Given the description of an element on the screen output the (x, y) to click on. 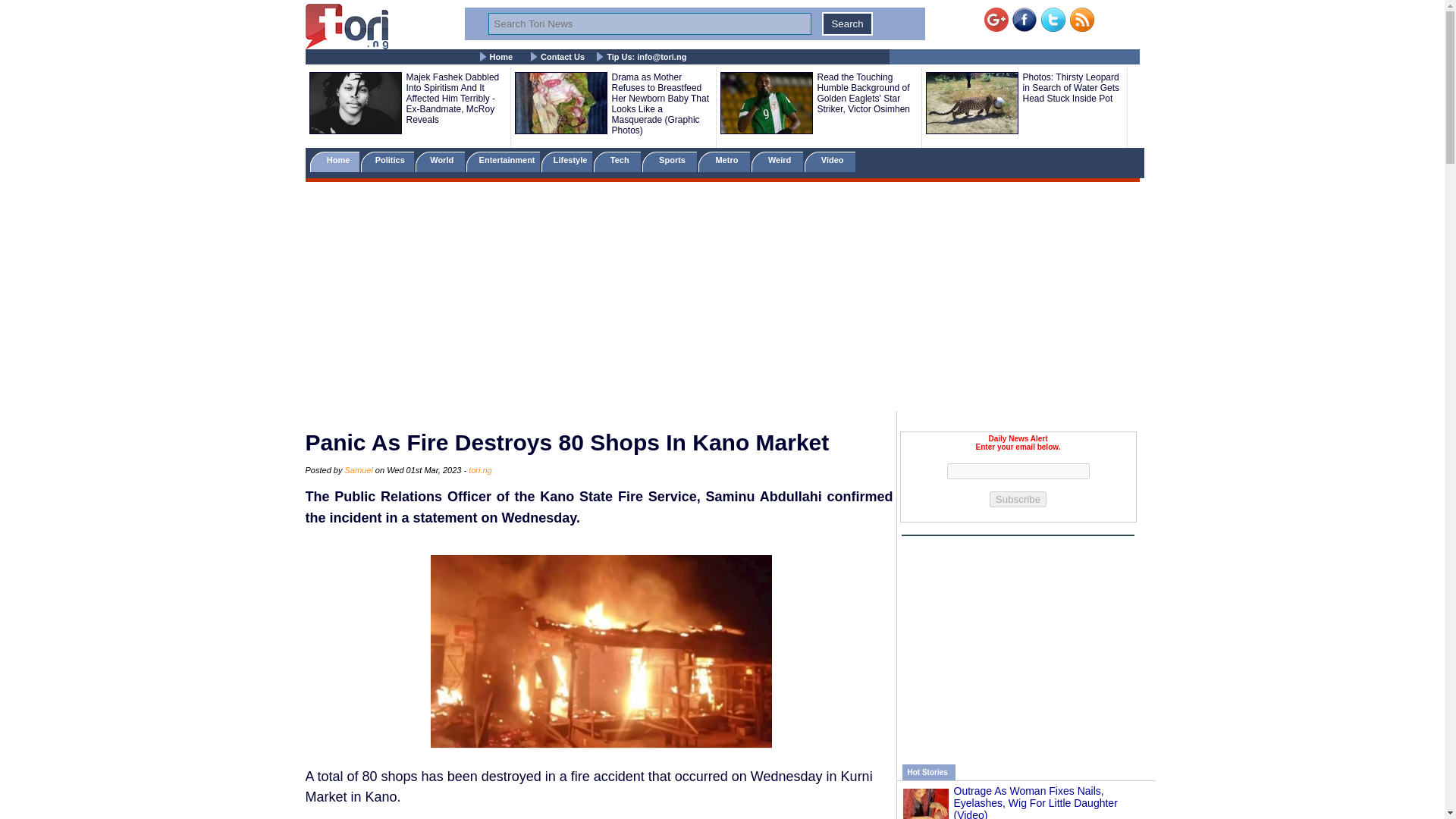
Click To Search (847, 24)
Search (847, 24)
    Weird      (777, 161)
Search Tori News (648, 24)
    Tech      (617, 161)
    Metro      (723, 161)
    Video      (830, 161)
Advertisement (1017, 642)
  Lifestyle   (566, 161)
   World      (439, 161)
Subscribe (1018, 498)
Contact Us (562, 56)
    Home     (333, 161)
